Given the description of an element on the screen output the (x, y) to click on. 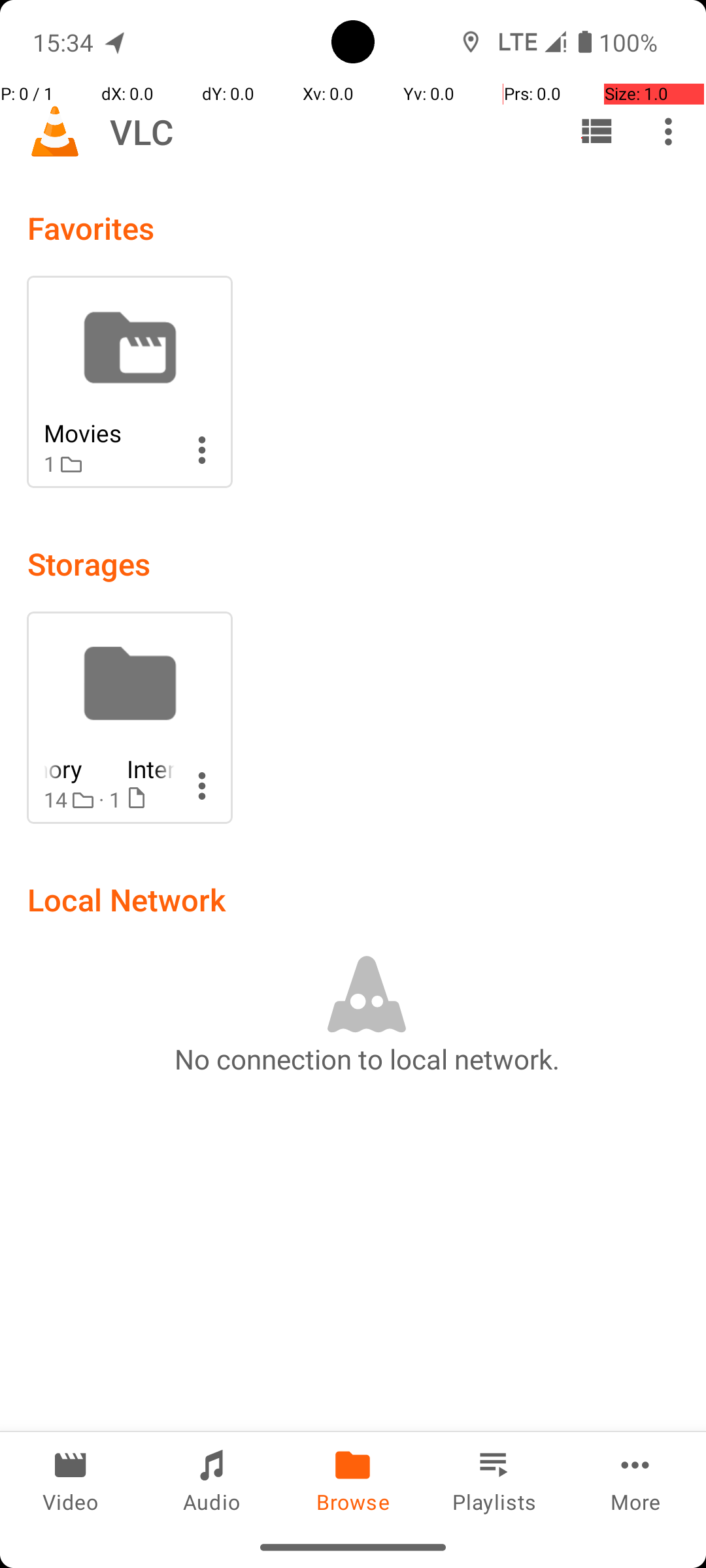
Folder: Internal memory, 14 subfolders, 1 media file Element type: androidx.cardview.widget.CardView (129, 717)
14 §*§ · 1 *§* Element type: android.widget.TextView (108, 799)
